Given the description of an element on the screen output the (x, y) to click on. 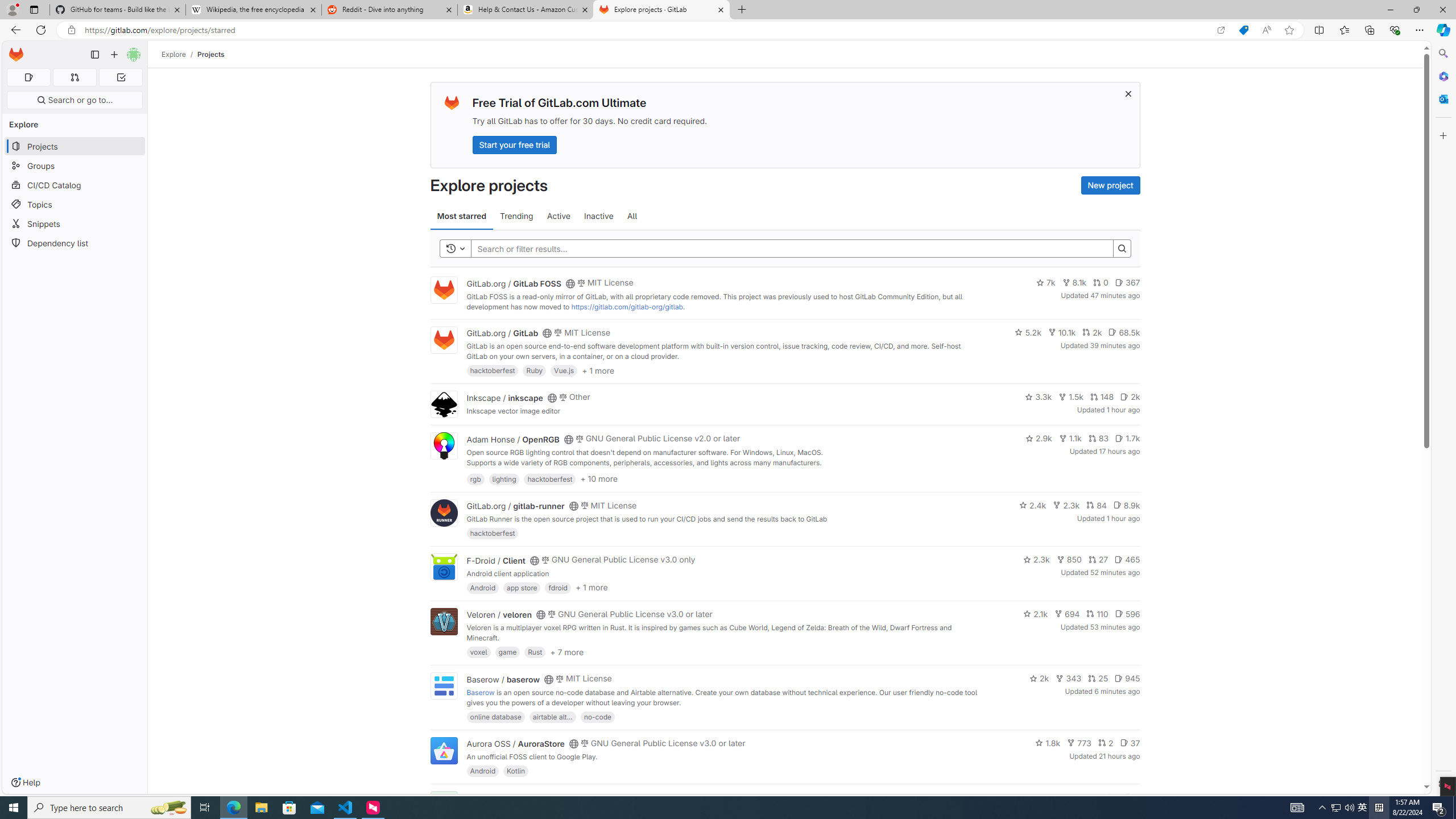
GitLab.org / GitLab (501, 333)
Wikipedia, the free encyclopedia (253, 9)
Groups (74, 165)
10.1k (1061, 331)
25 (1097, 678)
Explore (173, 53)
+ 7 more (566, 651)
https://openrgb.org (563, 472)
Adam Honse / OpenRGB (512, 438)
Active (559, 216)
Homepage (16, 54)
Snippets (74, 223)
8.1k (1073, 282)
